Given the description of an element on the screen output the (x, y) to click on. 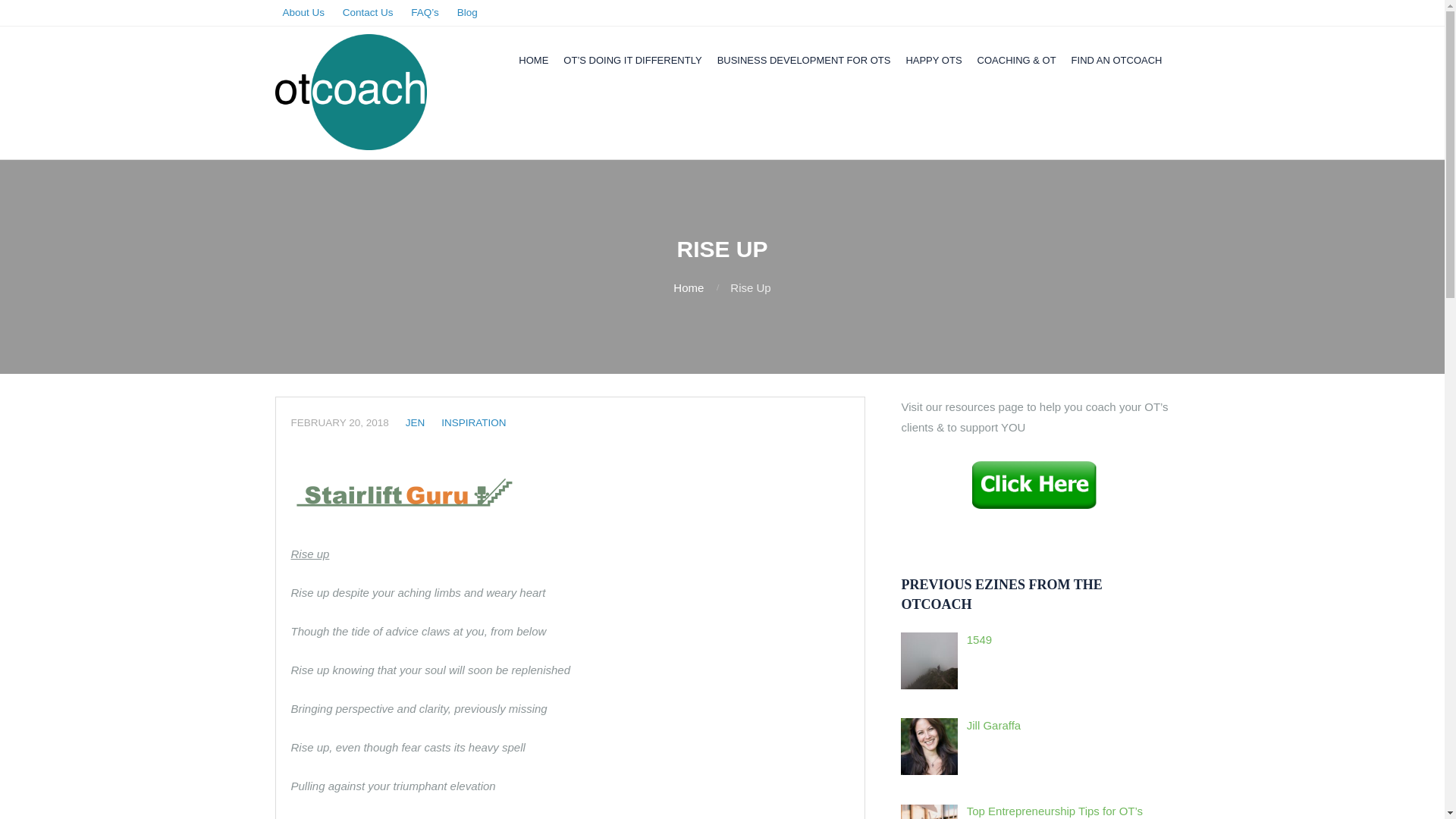
Blog (466, 13)
BUSINESS DEVELOPMENT FOR OTS (804, 60)
JEN (415, 422)
View all posts by jen (415, 422)
FIND AN OTCOACH (1117, 60)
Contact Us (367, 13)
Home (687, 287)
1549 (978, 639)
INSPIRATION (473, 422)
About Us (303, 13)
